Given the description of an element on the screen output the (x, y) to click on. 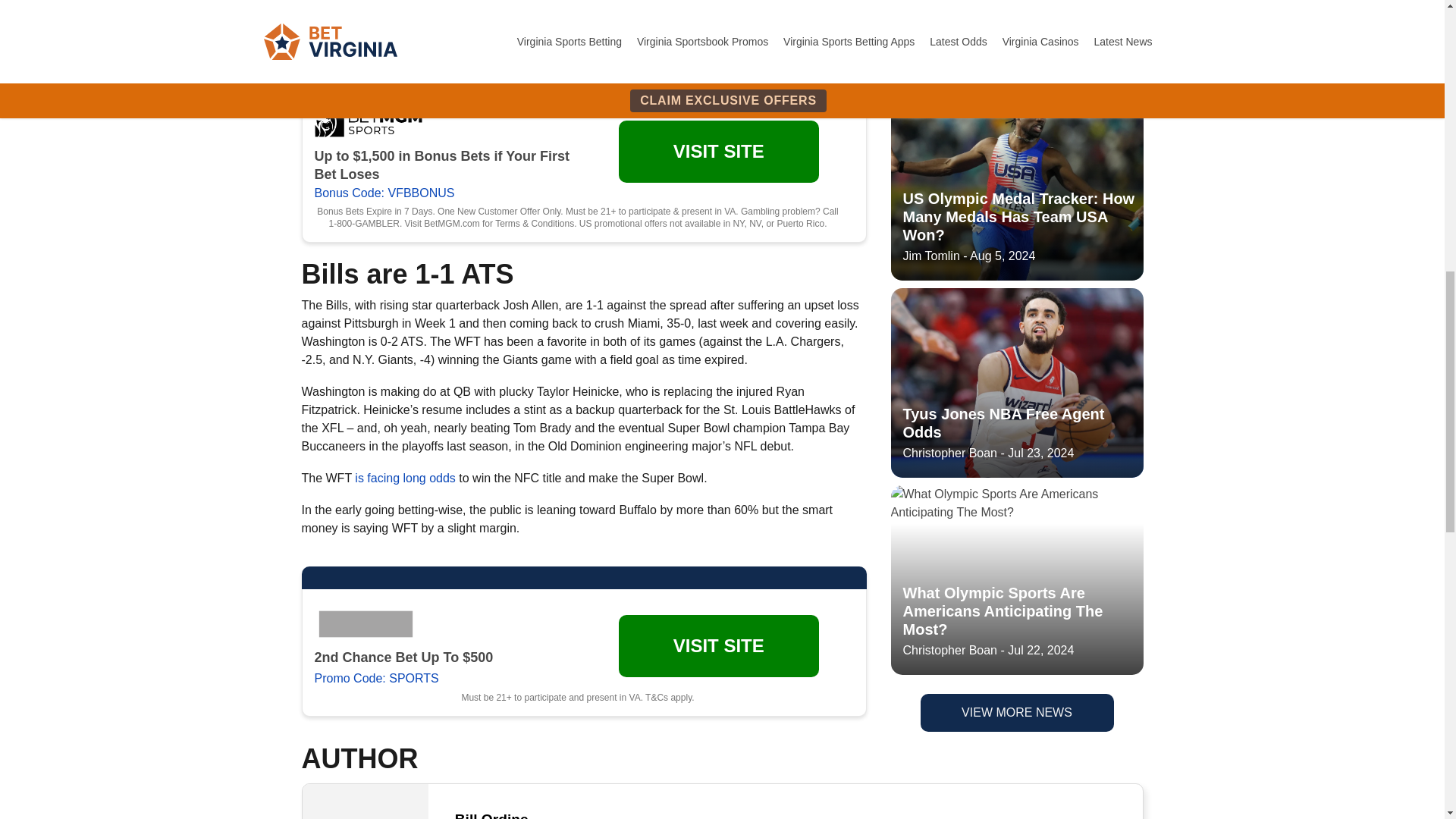
BetMGM Sports (368, 122)
What Olympic Sports Are Americans Anticipating The Most? (1015, 72)
BetRivers Sports (368, 623)
